Given the description of an element on the screen output the (x, y) to click on. 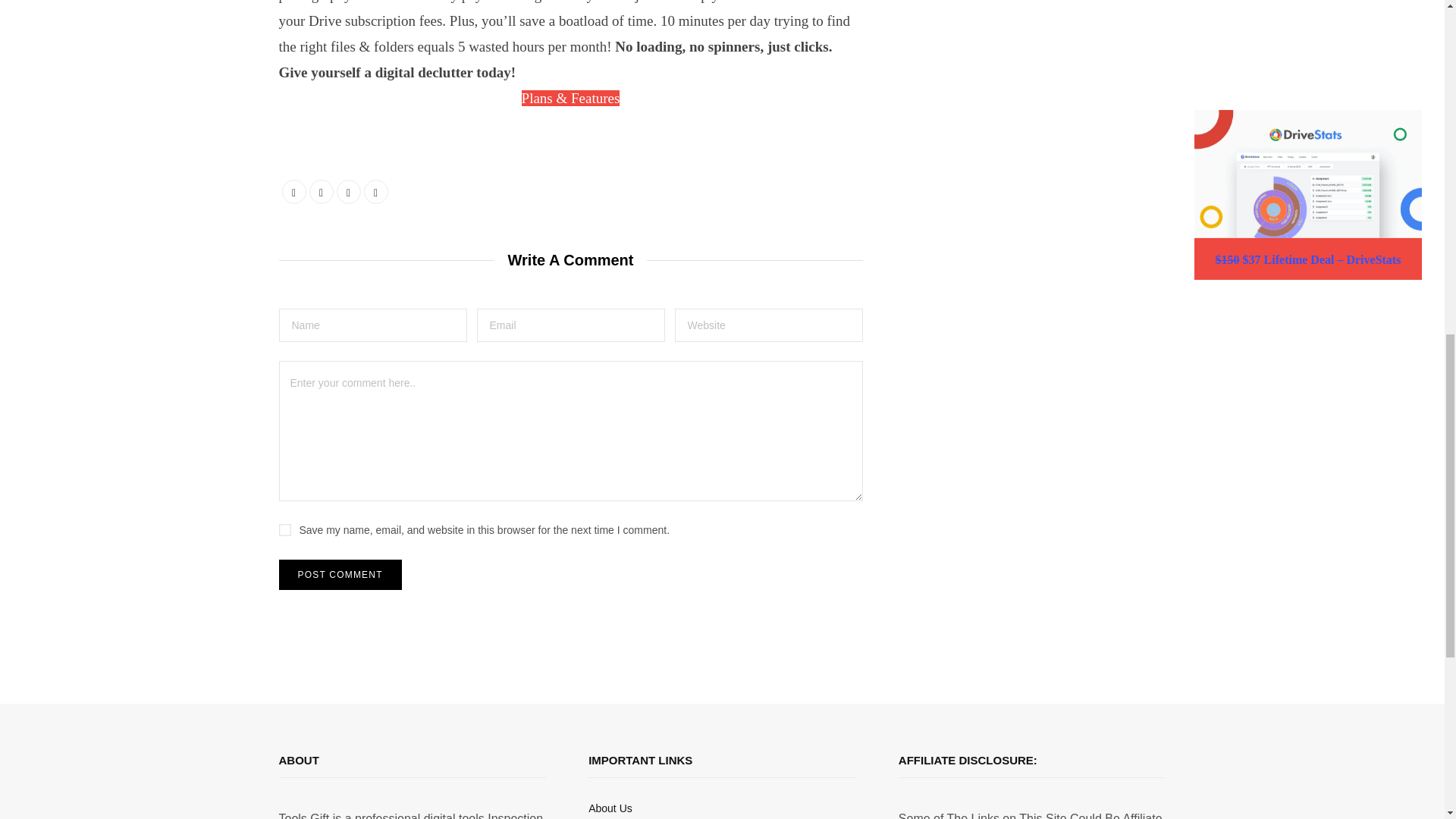
LinkedIn (348, 191)
Post Comment (340, 574)
About Us (609, 808)
Post Comment (340, 574)
Pinterest (376, 191)
Share on Facebook (293, 191)
yes (285, 530)
Share on Twitter (320, 191)
